Given the description of an element on the screen output the (x, y) to click on. 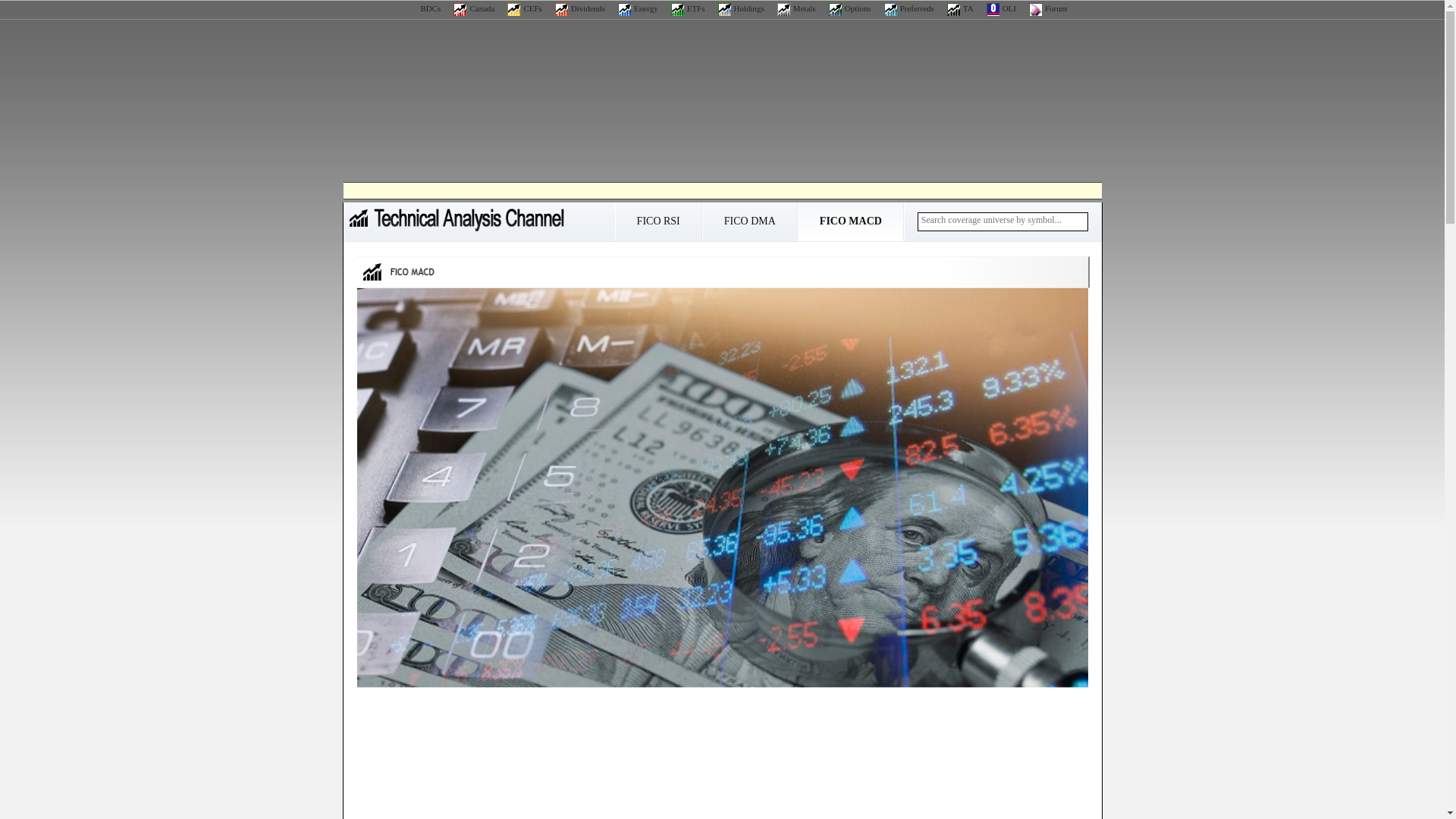
BDCs (422, 8)
Dividend Channel (579, 8)
Canada (473, 8)
FICO DMA (748, 225)
Holdings Channel (740, 8)
FICO MACD (849, 225)
Holdings (740, 8)
CEF Channel (523, 8)
Metals (796, 8)
Technical Analysis Channel (960, 8)
OLI (1001, 8)
TA (960, 8)
Metals Channel (796, 8)
Canada Stock Channel (473, 8)
The Online Investor (1001, 8)
